Given the description of an element on the screen output the (x, y) to click on. 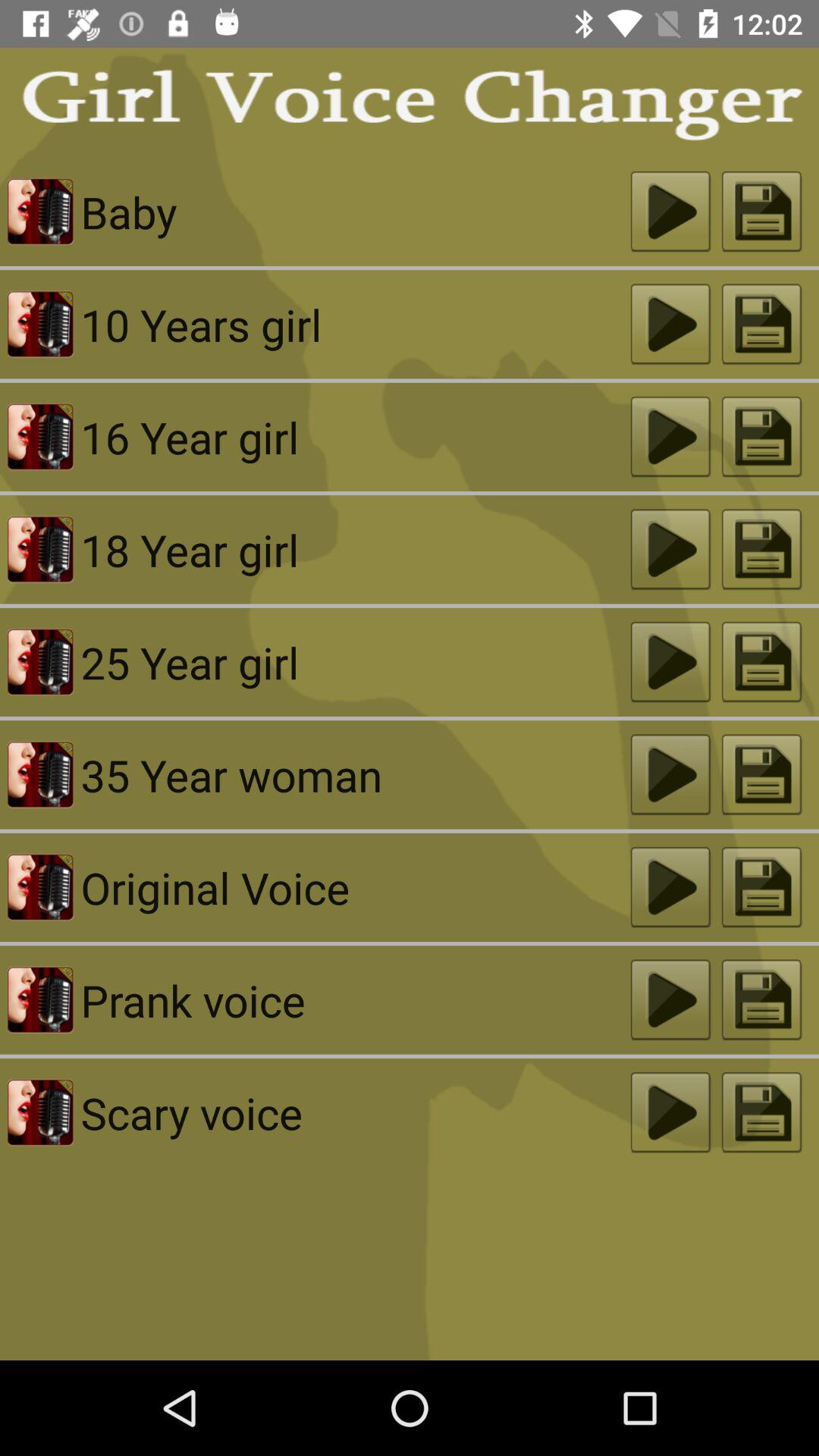
select prank voice icon (355, 999)
